Given the description of an element on the screen output the (x, y) to click on. 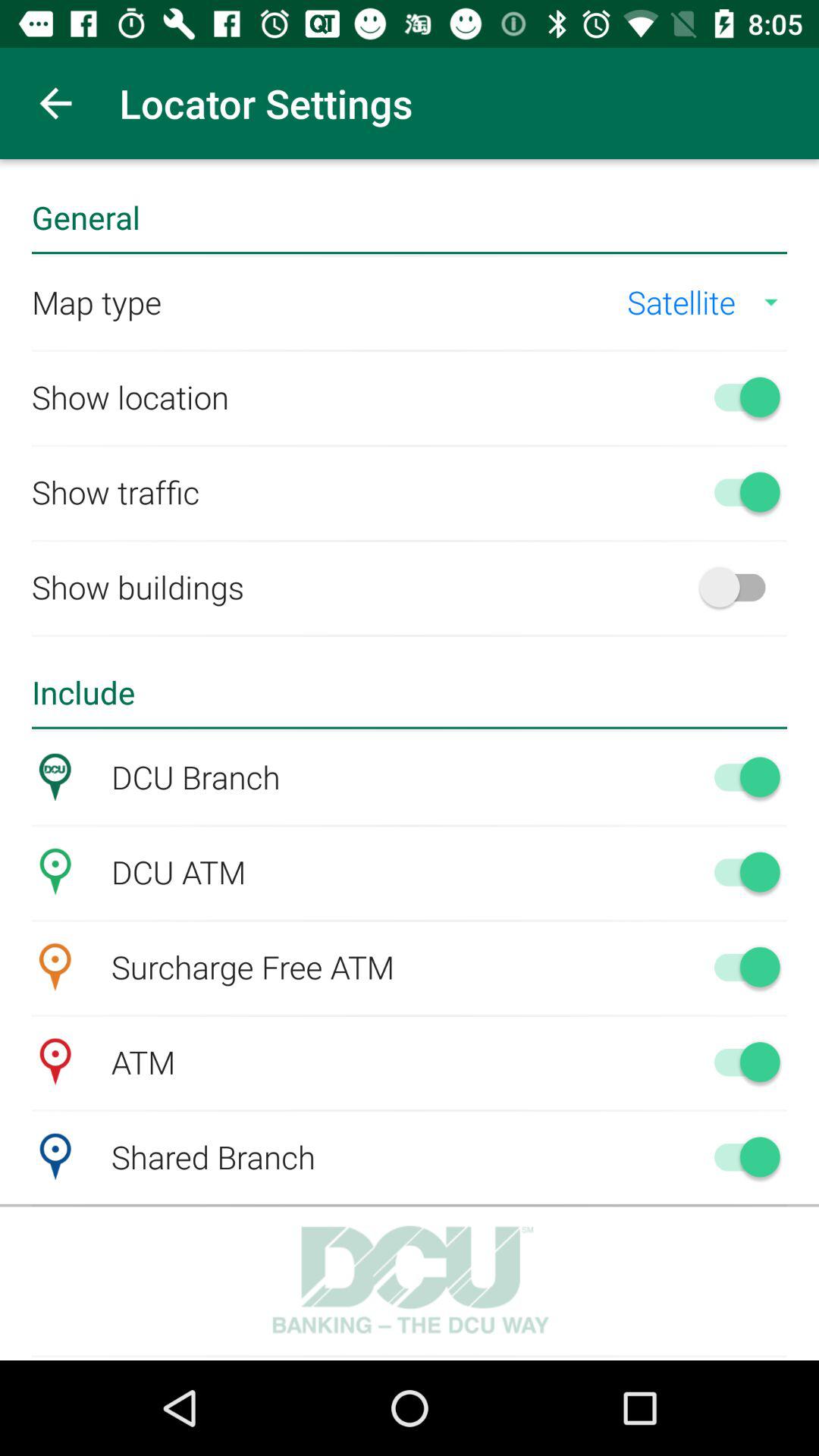
dcu atm autoplay (739, 871)
